Given the description of an element on the screen output the (x, y) to click on. 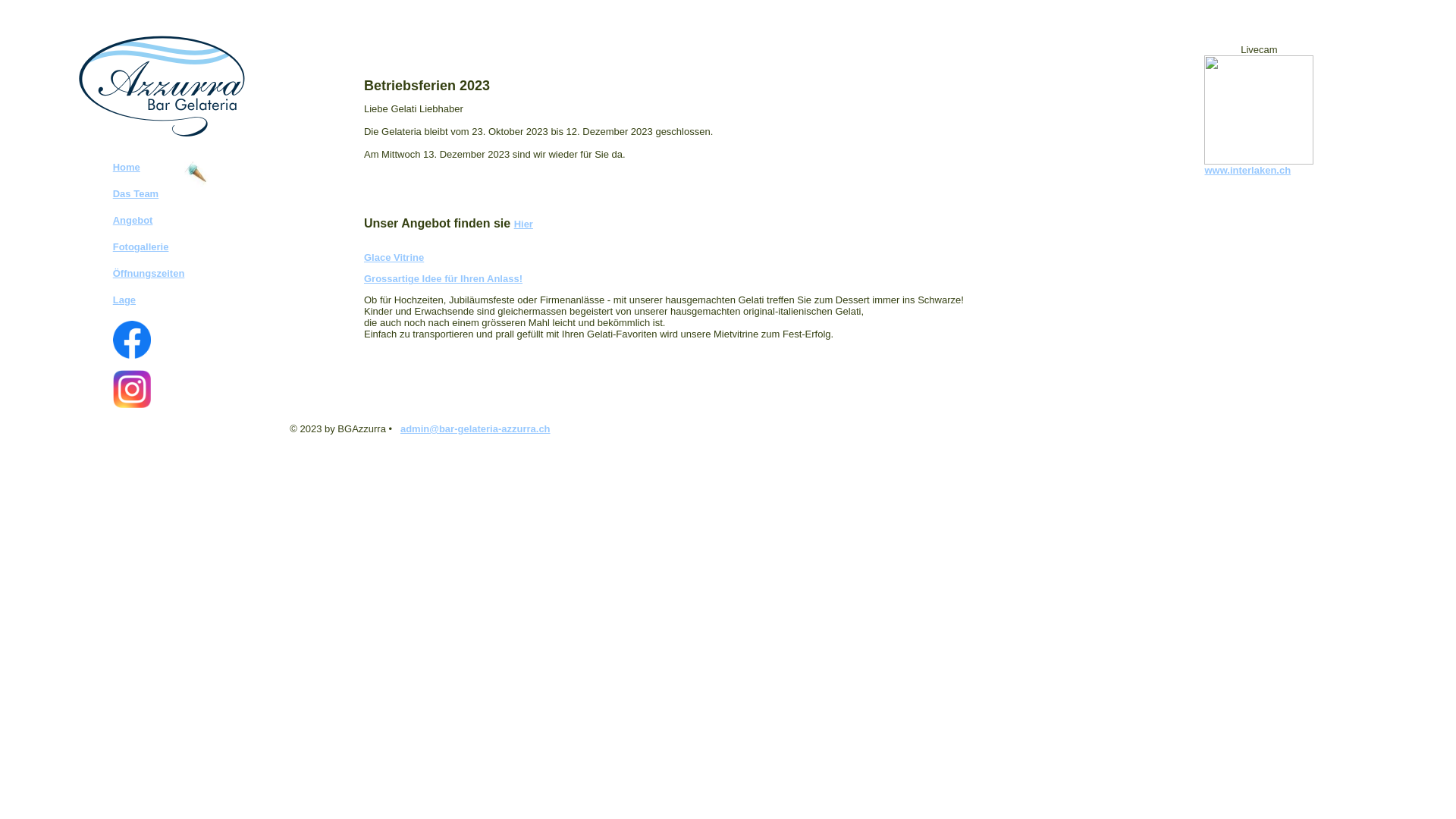
admin@bar-gelateria-azzurra.ch Element type: text (475, 428)
Hier Element type: text (523, 223)
Fotogallerie Element type: text (140, 246)
www.interlaken.ch Element type: text (1247, 169)
Angebot Element type: text (132, 219)
Lage Element type: text (123, 299)
Home Element type: text (126, 166)
Das Team Element type: text (135, 193)
